Given the description of an element on the screen output the (x, y) to click on. 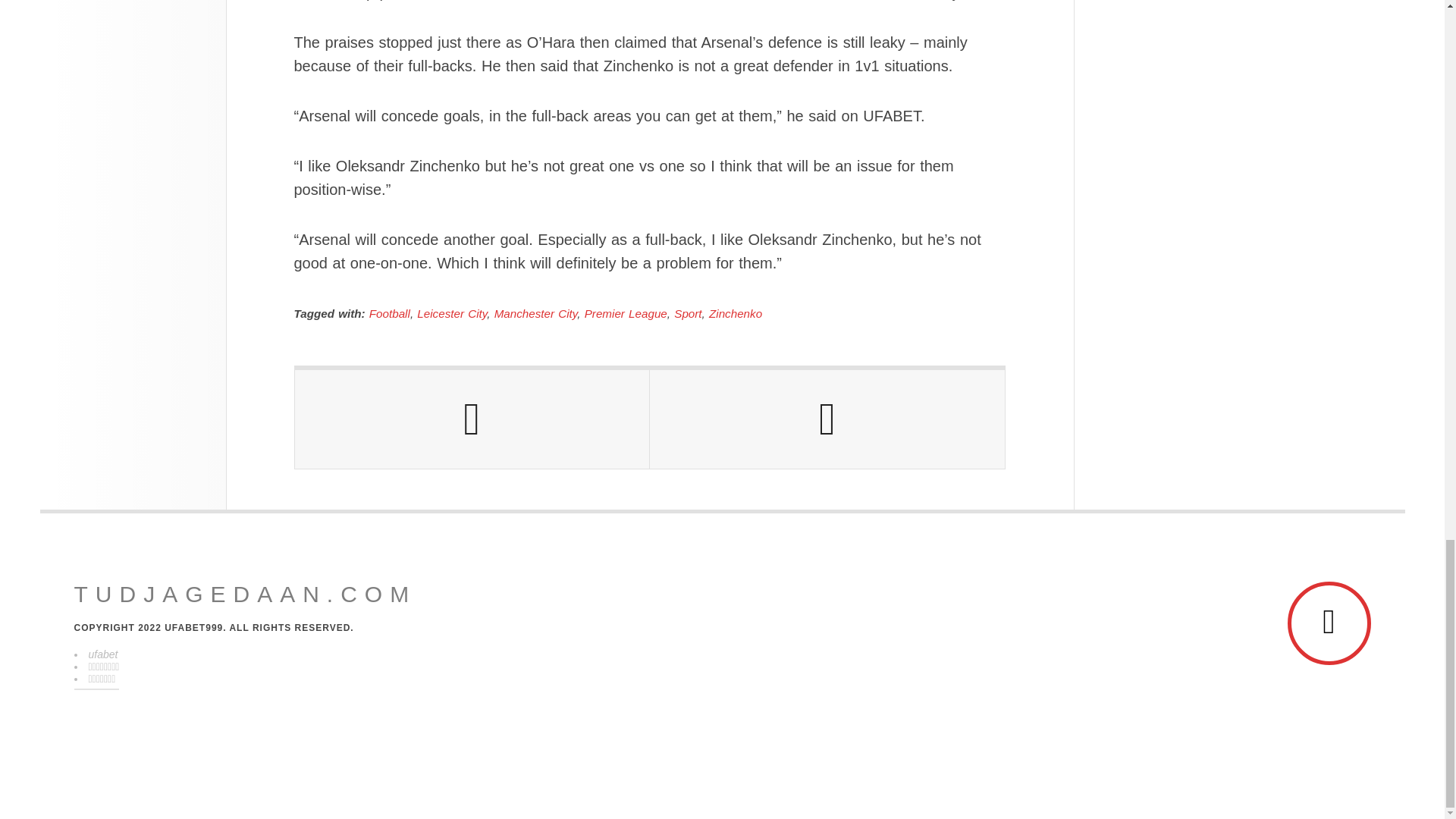
Zinchenko (735, 313)
Leicester City (451, 313)
Next Post (826, 419)
Previous Post (471, 419)
Premier League (625, 313)
Sport (687, 313)
Manchester City (536, 313)
tudjagedaan.com (245, 594)
Football (389, 313)
